Given the description of an element on the screen output the (x, y) to click on. 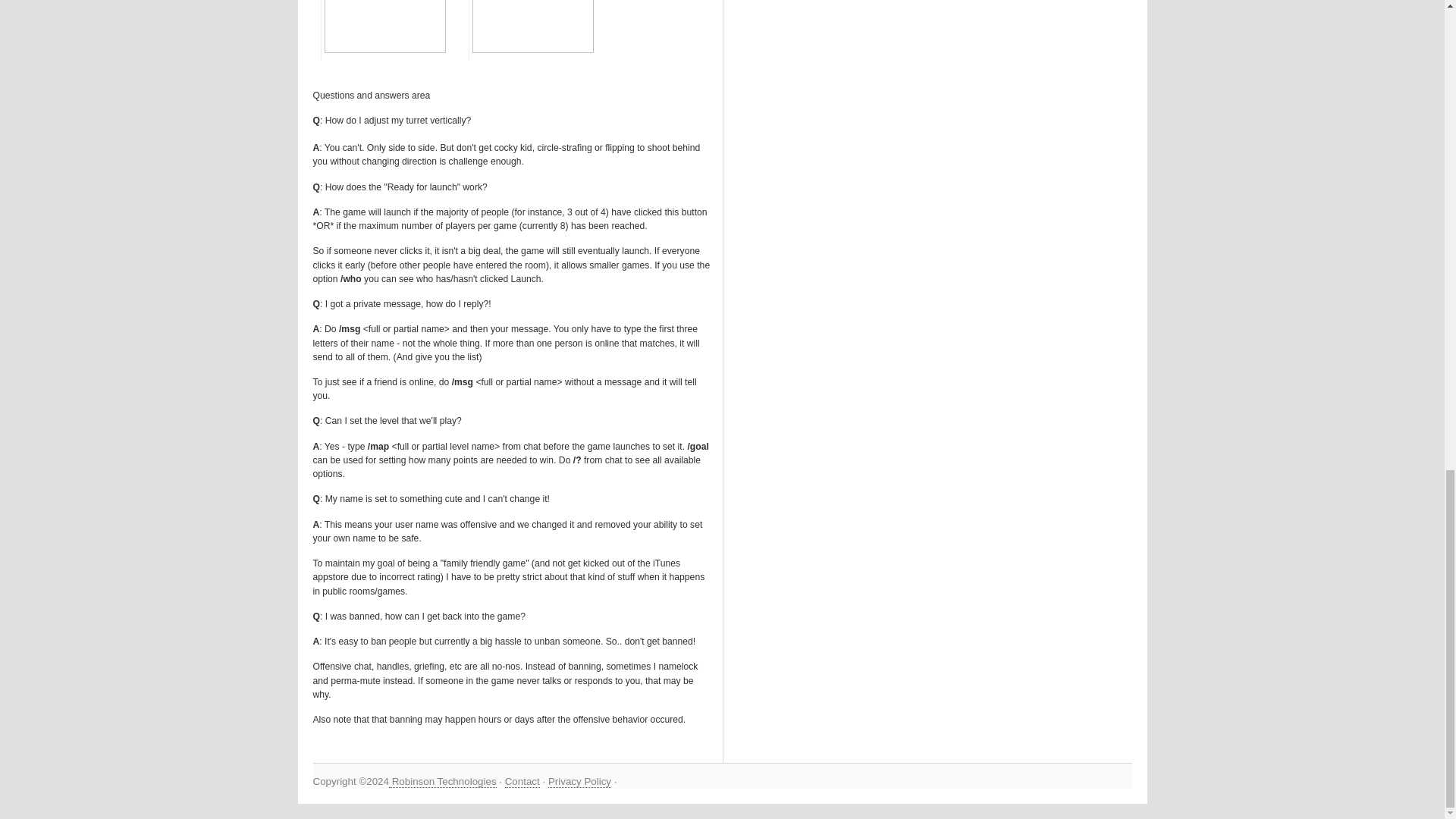
Privacy Policy (579, 781)
Contact (522, 781)
Robinson Technologies (442, 781)
